Given the description of an element on the screen output the (x, y) to click on. 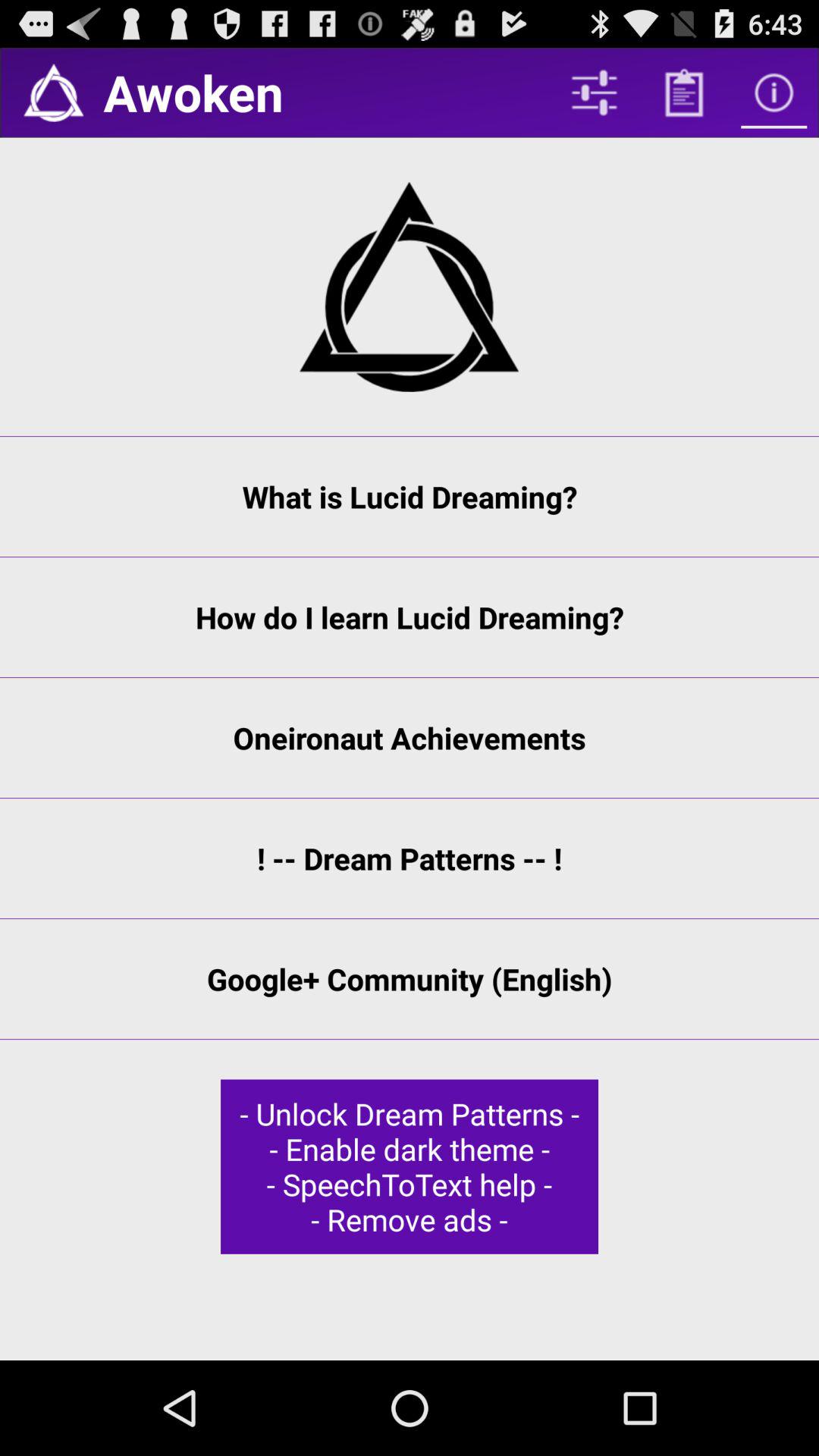
choose google+ community (english) (409, 979)
